Given the description of an element on the screen output the (x, y) to click on. 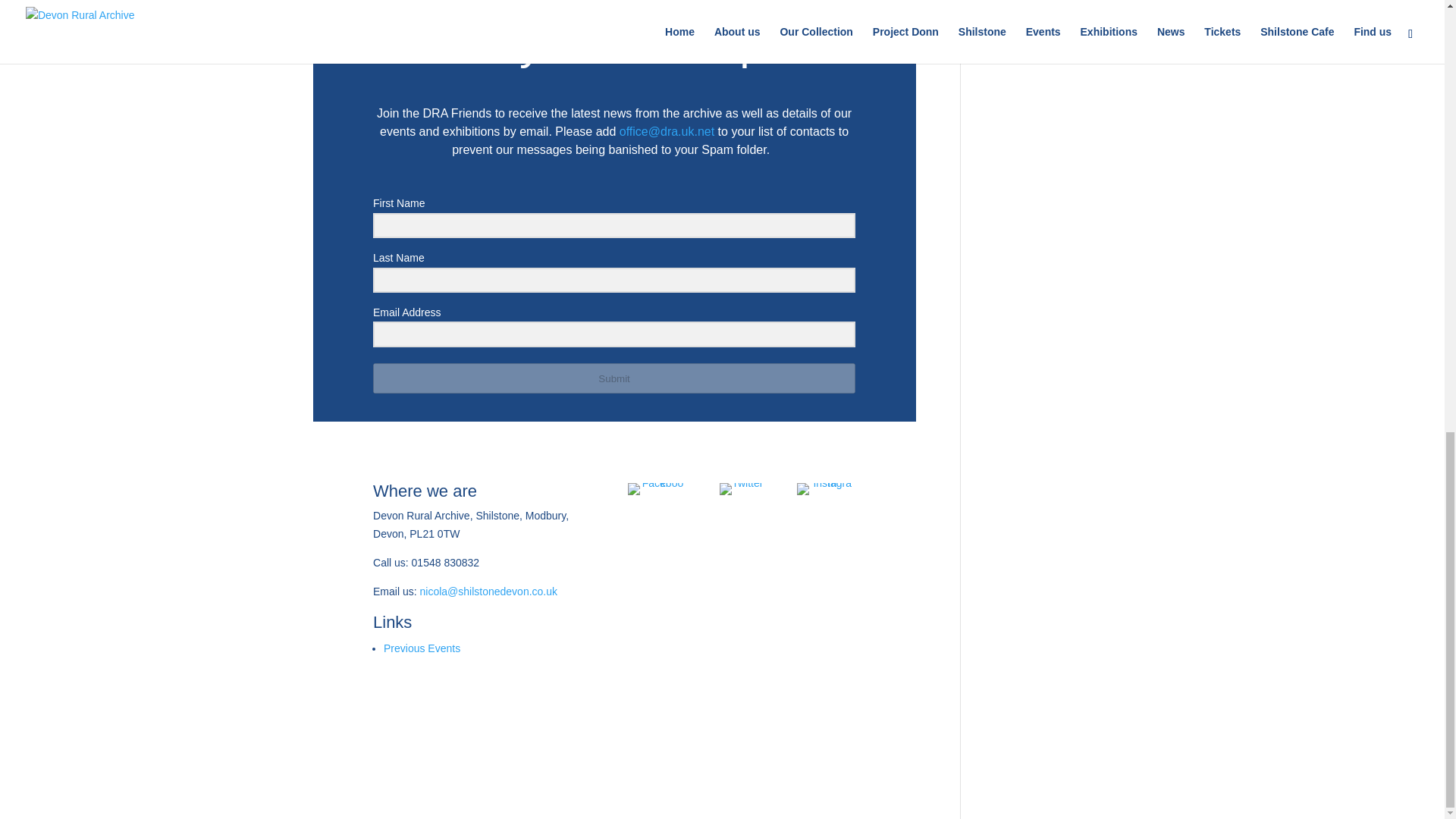
DRA twitter 50x50 (740, 489)
Instagram Logo 50x50 reverse (826, 489)
DRA Facebook 50x50 (656, 489)
Submit (614, 378)
Previous Events (422, 648)
